Given the description of an element on the screen output the (x, y) to click on. 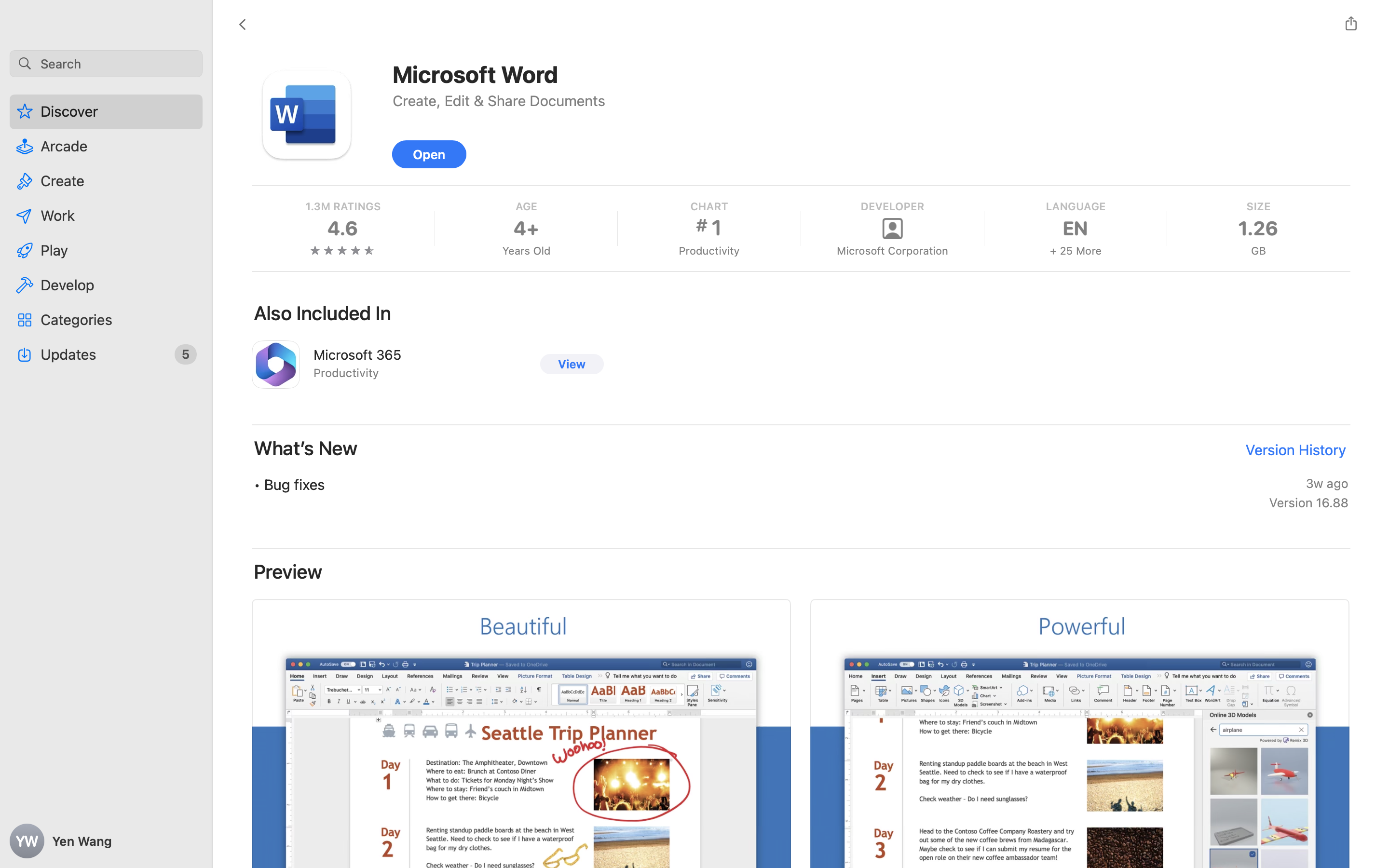
Productivity, CHART, 1 Element type: AXStaticText (708, 228)
4.6 Element type: AXStaticText (342, 228)
Years Old, AGE, 4+ Element type: AXStaticText (525, 228)
EN Element type: AXStaticText (1074, 228)
1.26 Element type: AXStaticText (1257, 228)
